Given the description of an element on the screen output the (x, y) to click on. 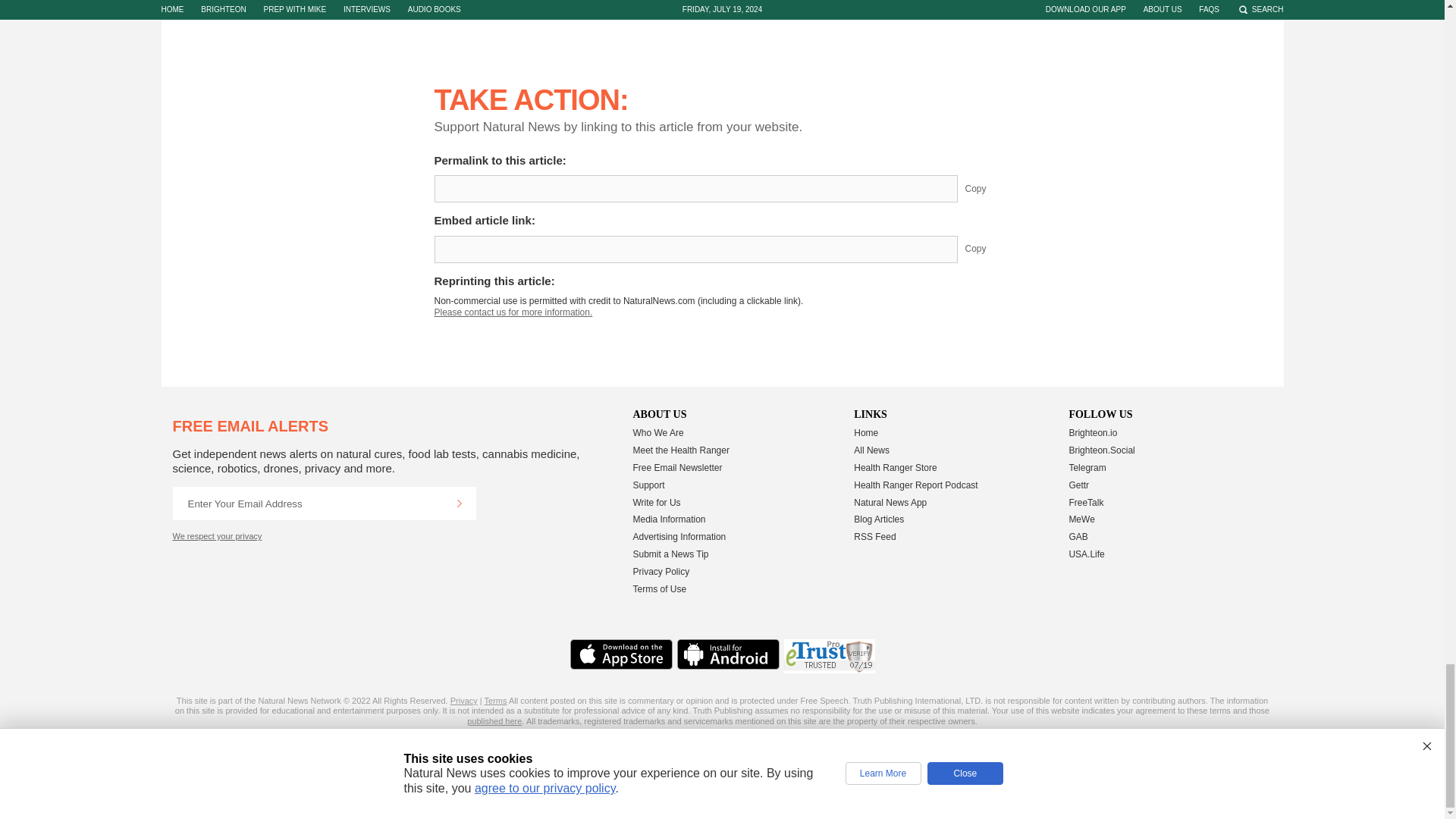
Continue (459, 503)
eTrust Pro Certified (829, 656)
Copy Permalink (986, 188)
Copy Embed Link (986, 248)
